Given the description of an element on the screen output the (x, y) to click on. 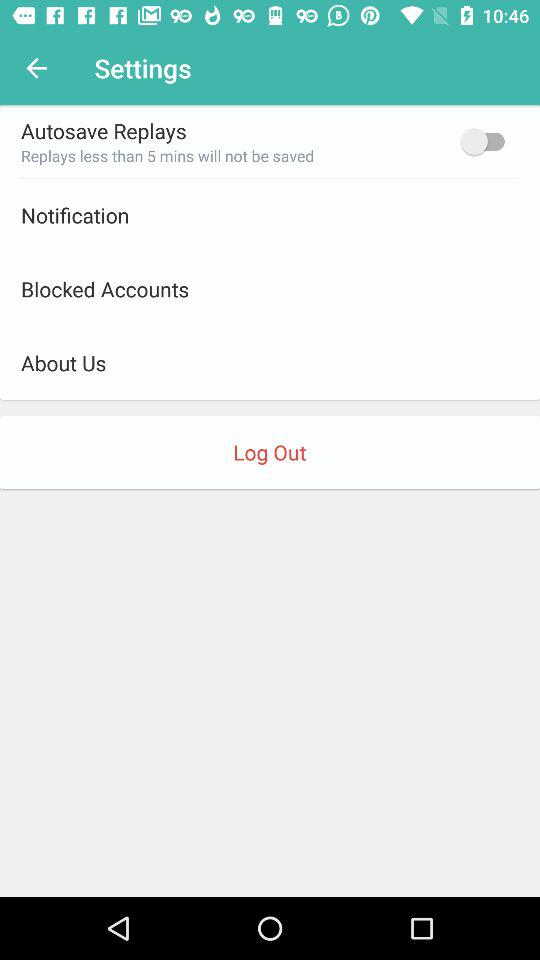
open item at the top right corner (487, 141)
